Given the description of an element on the screen output the (x, y) to click on. 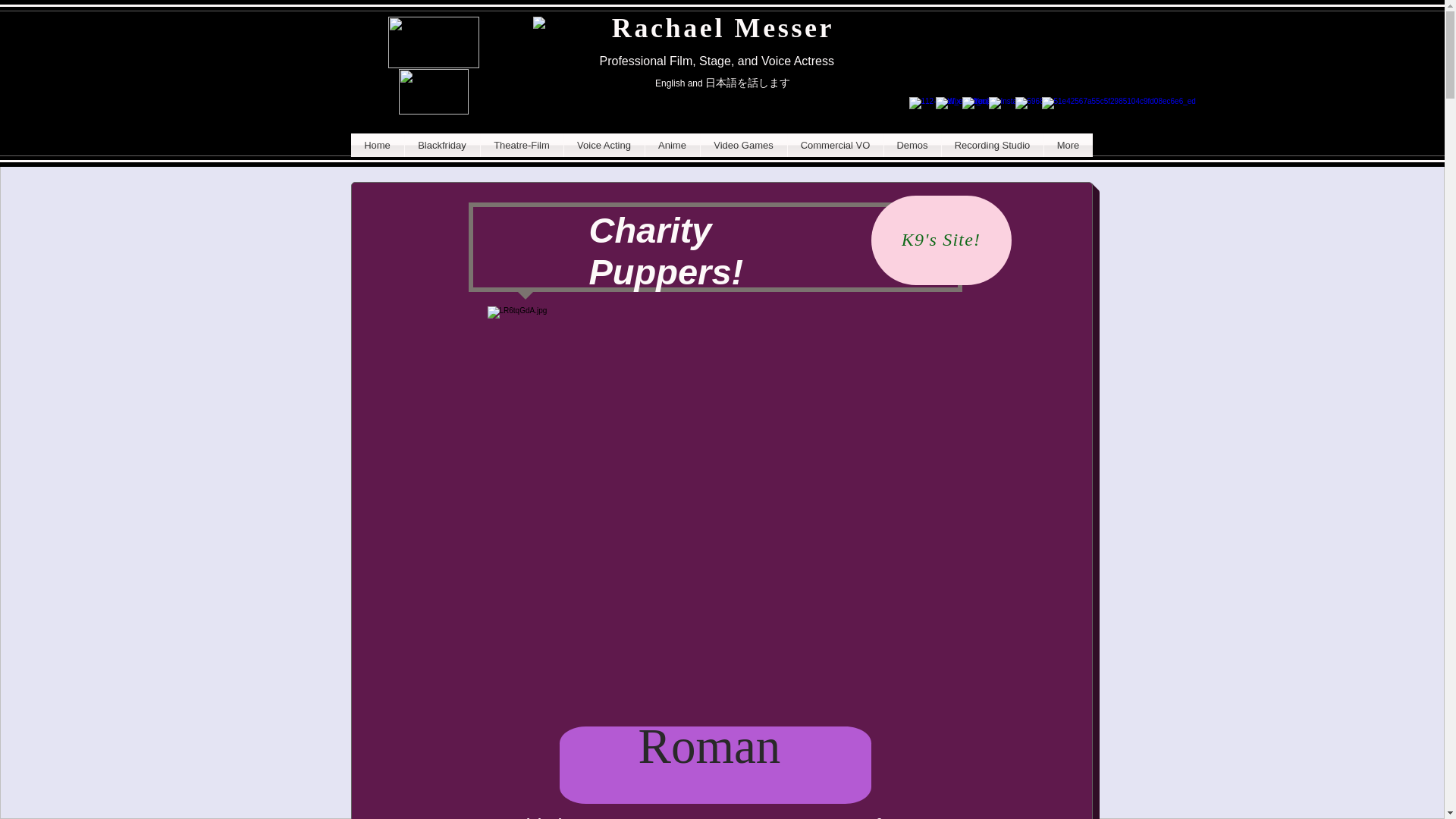
Voice Acting (604, 145)
Anime (671, 145)
Twitter Follow (956, 79)
Blackfriday (442, 145)
Commercial VO (834, 145)
Home (376, 145)
K9's Site! (940, 240)
Demos (911, 145)
Recording Studio (992, 145)
Theatre-Film (521, 145)
Video Games (743, 145)
